Given the description of an element on the screen output the (x, y) to click on. 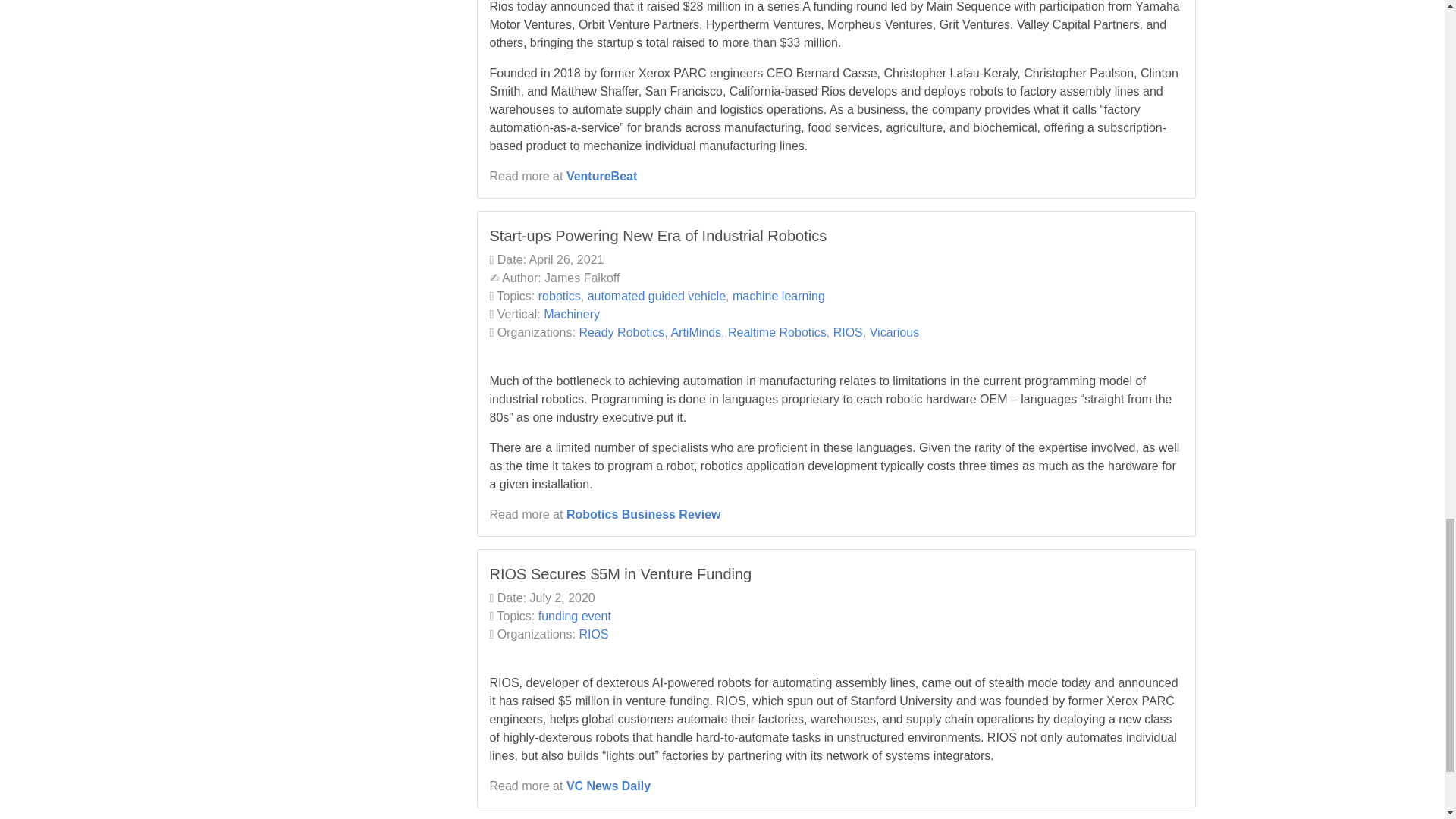
Machinery (571, 314)
Ready Robotics (620, 332)
robotics (559, 295)
VC News Daily (608, 785)
funding event (574, 615)
VentureBeat (601, 175)
RIOS (847, 332)
machine learning (778, 295)
Realtime Robotics (777, 332)
Robotics Business Review (643, 513)
Vicarious (894, 332)
ArtiMinds (694, 332)
RIOS (593, 634)
automated guided vehicle (656, 295)
